Given the description of an element on the screen output the (x, y) to click on. 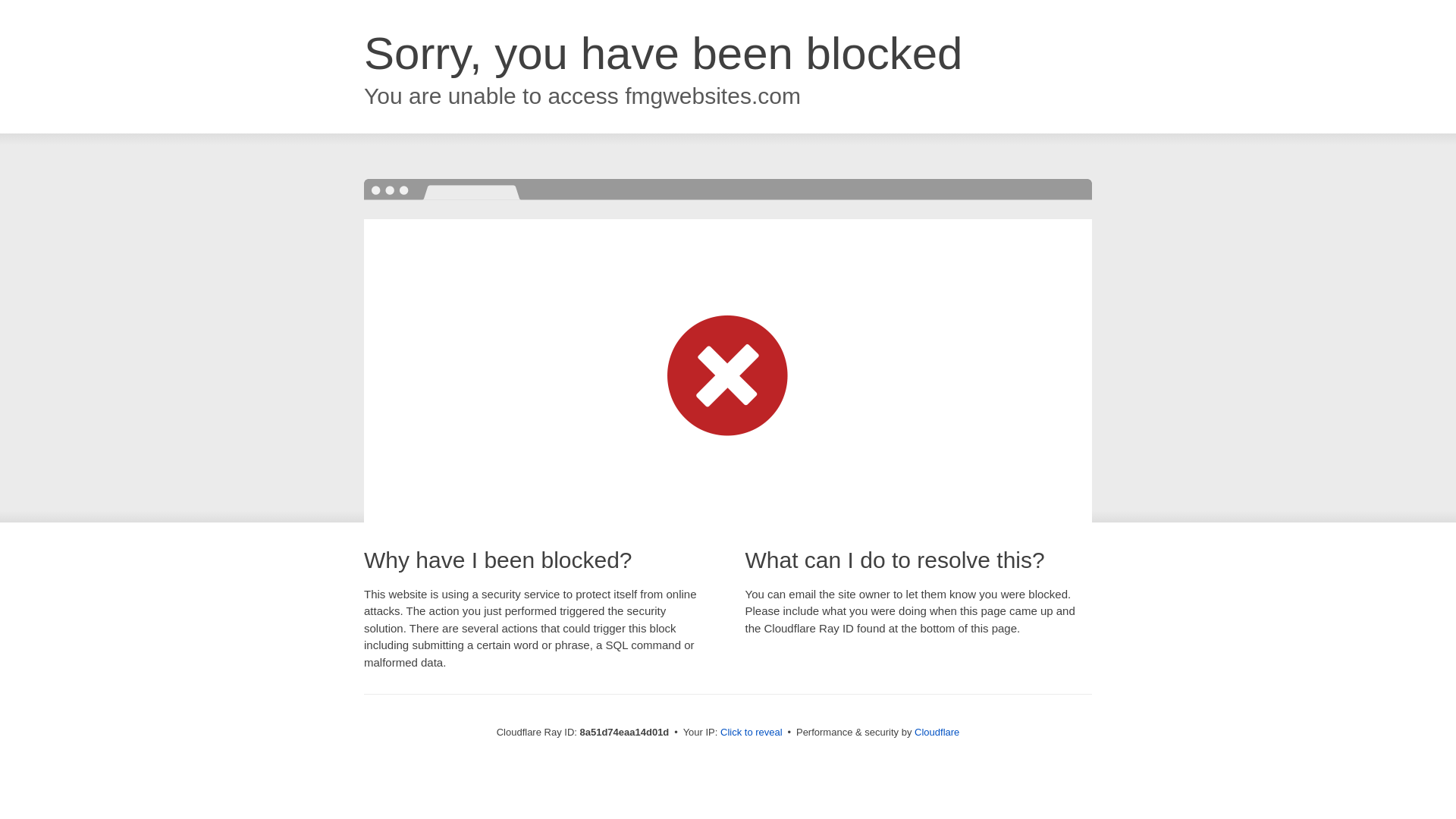
Cloudflare (936, 731)
Click to reveal (751, 732)
